Given the description of an element on the screen output the (x, y) to click on. 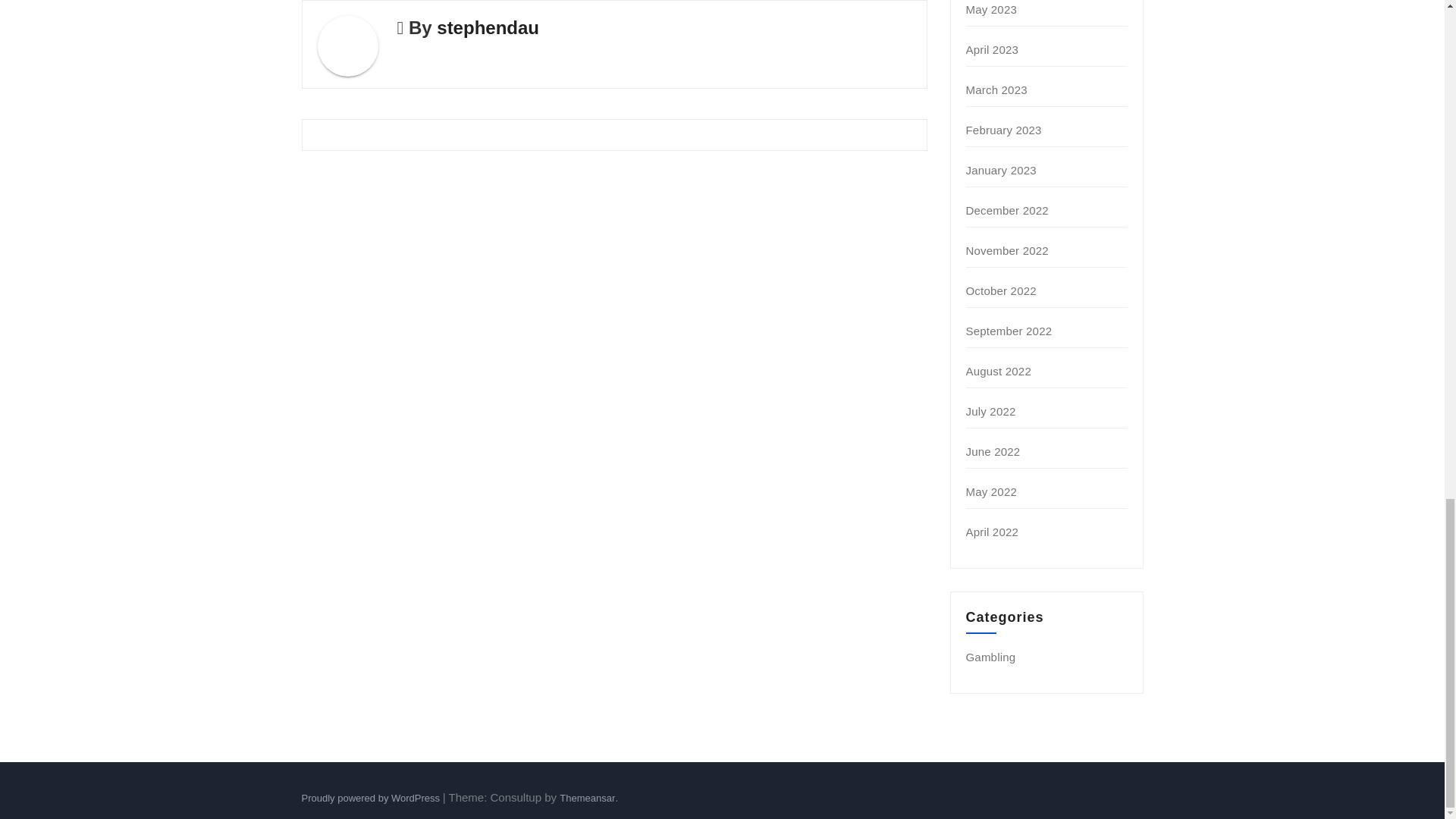
July 2022 (991, 410)
May 2023 (991, 9)
May 2022 (991, 491)
November 2022 (1007, 250)
Gambling (991, 656)
December 2022 (1007, 210)
February 2023 (1004, 129)
September 2022 (1009, 330)
January 2023 (1001, 169)
August 2022 (998, 370)
stephendau (487, 27)
April 2022 (992, 531)
April 2023 (992, 49)
June 2022 (993, 451)
March 2023 (996, 89)
